Given the description of an element on the screen output the (x, y) to click on. 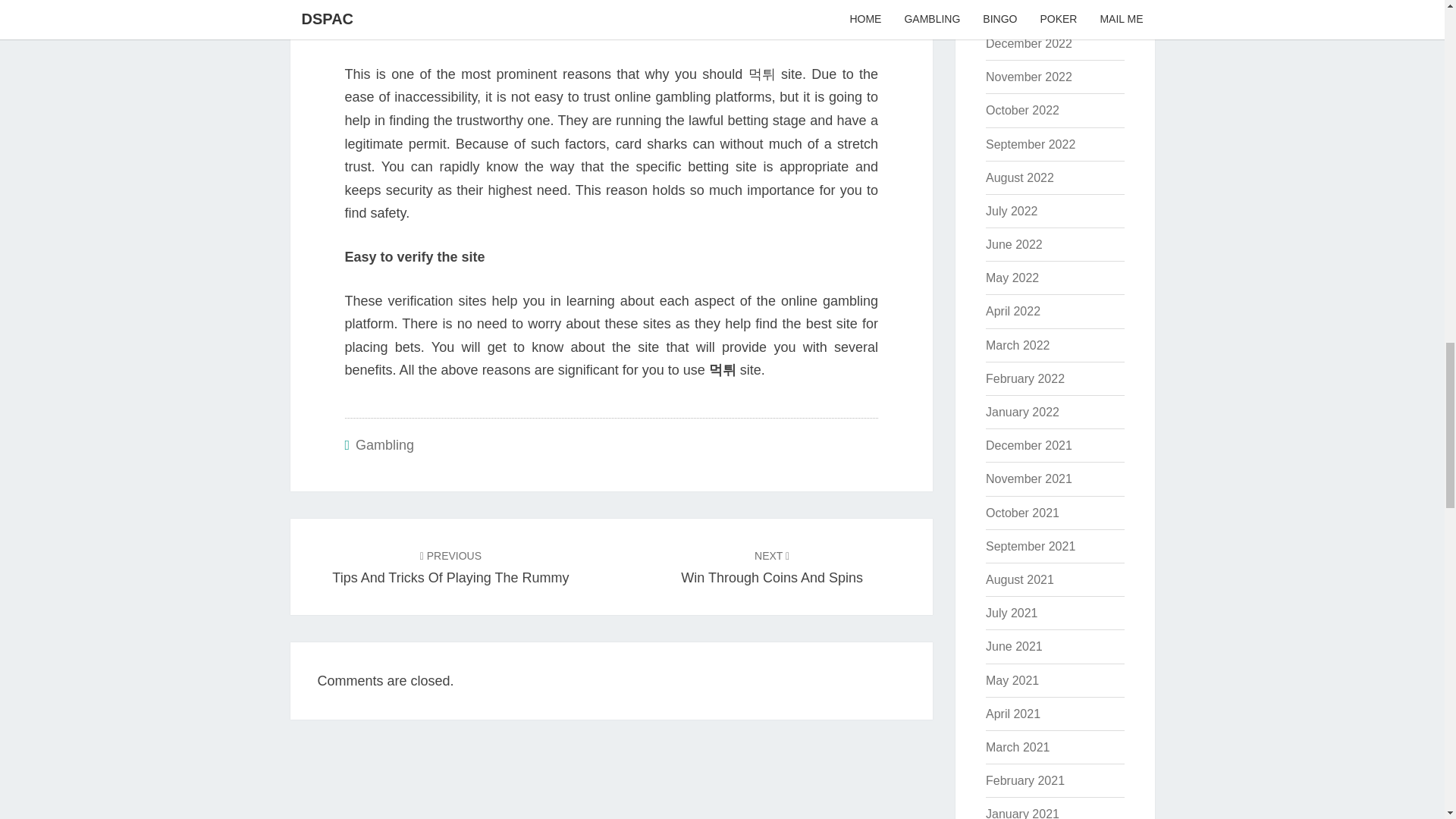
December 2022 (1028, 42)
September 2022 (1030, 144)
January 2023 (450, 566)
November 2022 (772, 566)
October 2022 (1022, 10)
Gambling (1028, 76)
